Given the description of an element on the screen output the (x, y) to click on. 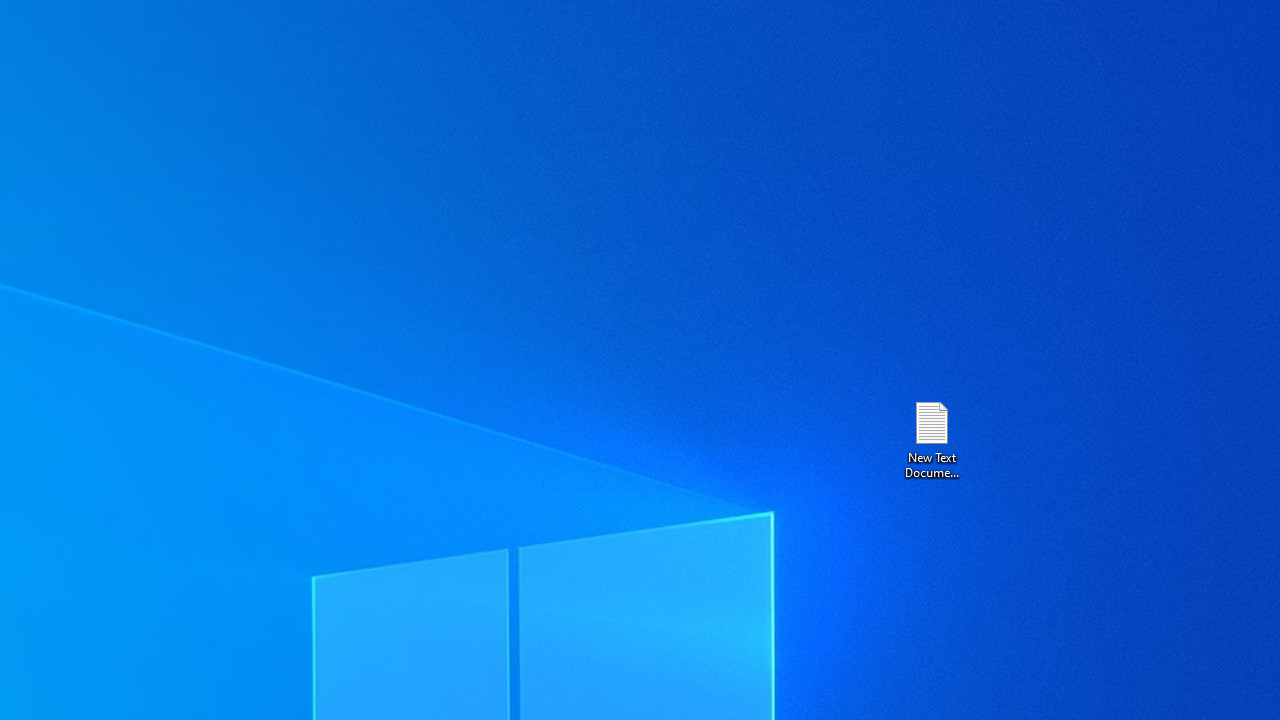
New Text Document (2) (931, 438)
